Given the description of an element on the screen output the (x, y) to click on. 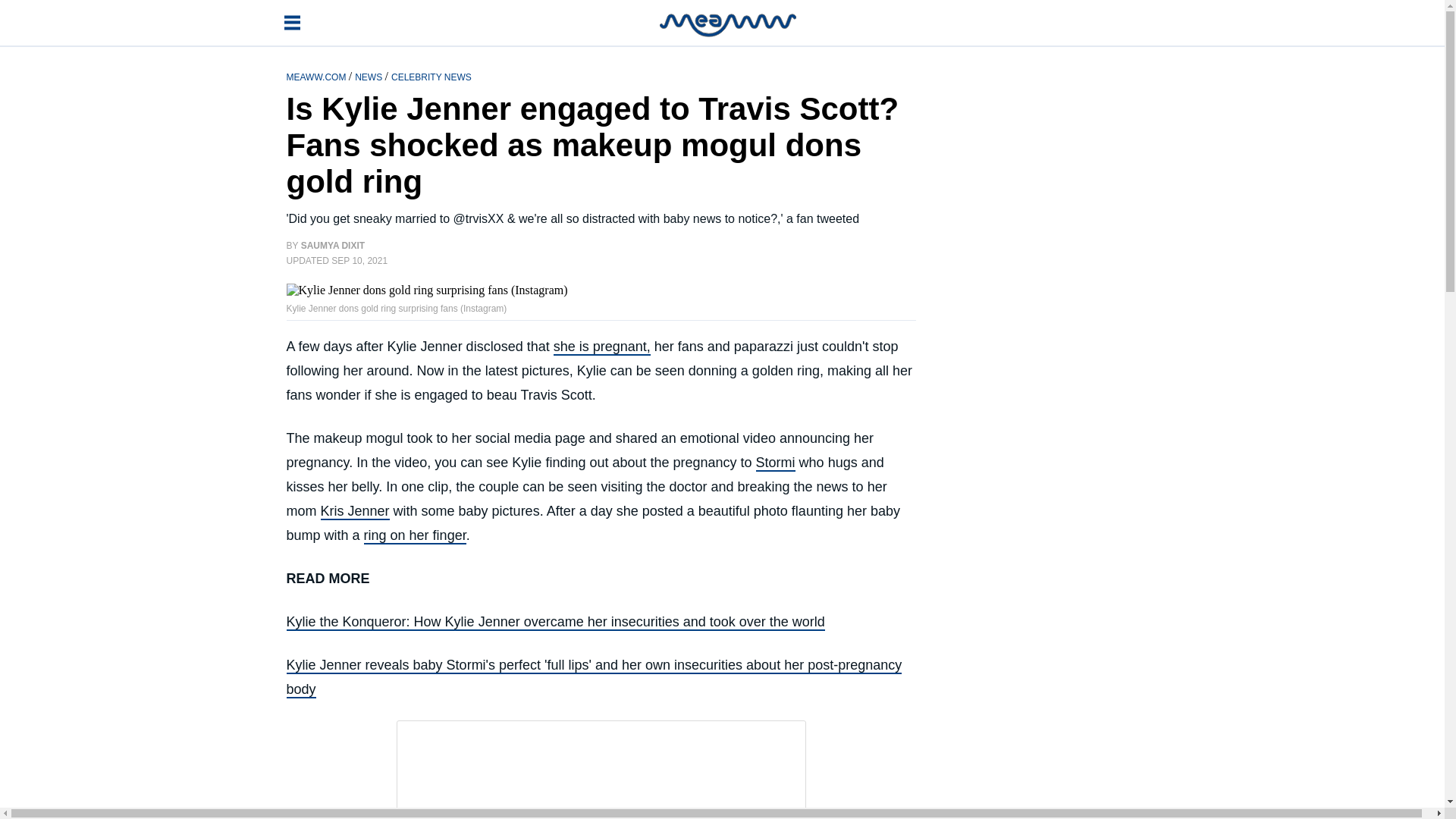
SAUMYA DIXIT (333, 245)
Stormi (774, 463)
NEWS (369, 75)
MEAWW.COM (317, 75)
Kris Jenner (354, 511)
she is pregnant, (601, 347)
CELEBRITY NEWS (431, 75)
ring on her finger (414, 535)
